Given the description of an element on the screen output the (x, y) to click on. 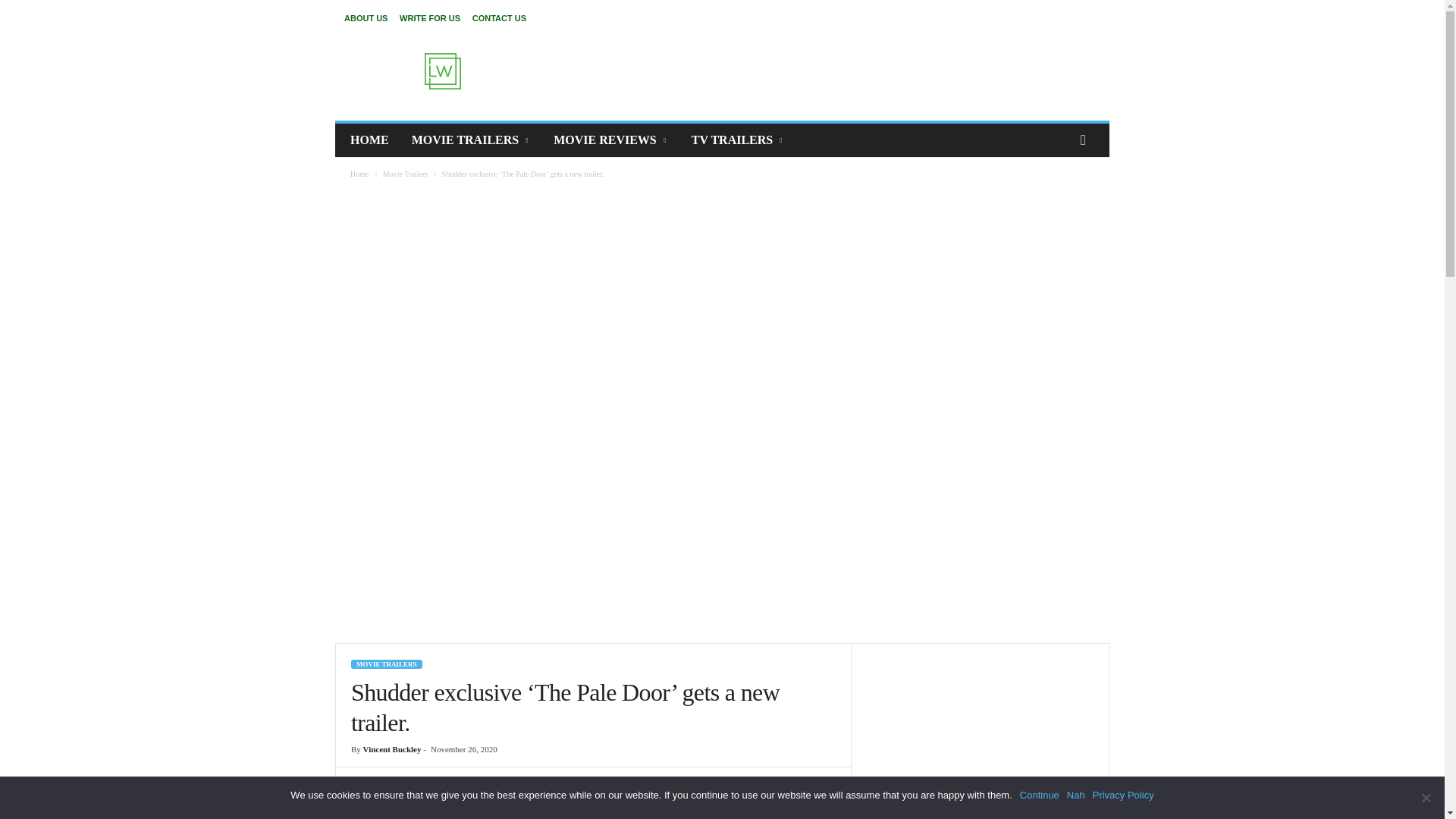
Advertisement (829, 70)
MOVIE TRAILERS (471, 140)
ABOUT US (365, 17)
WRITE FOR US (429, 17)
HOME (369, 140)
MOVIE REVIEWS (610, 140)
CONTACT US (498, 17)
